Given the description of an element on the screen output the (x, y) to click on. 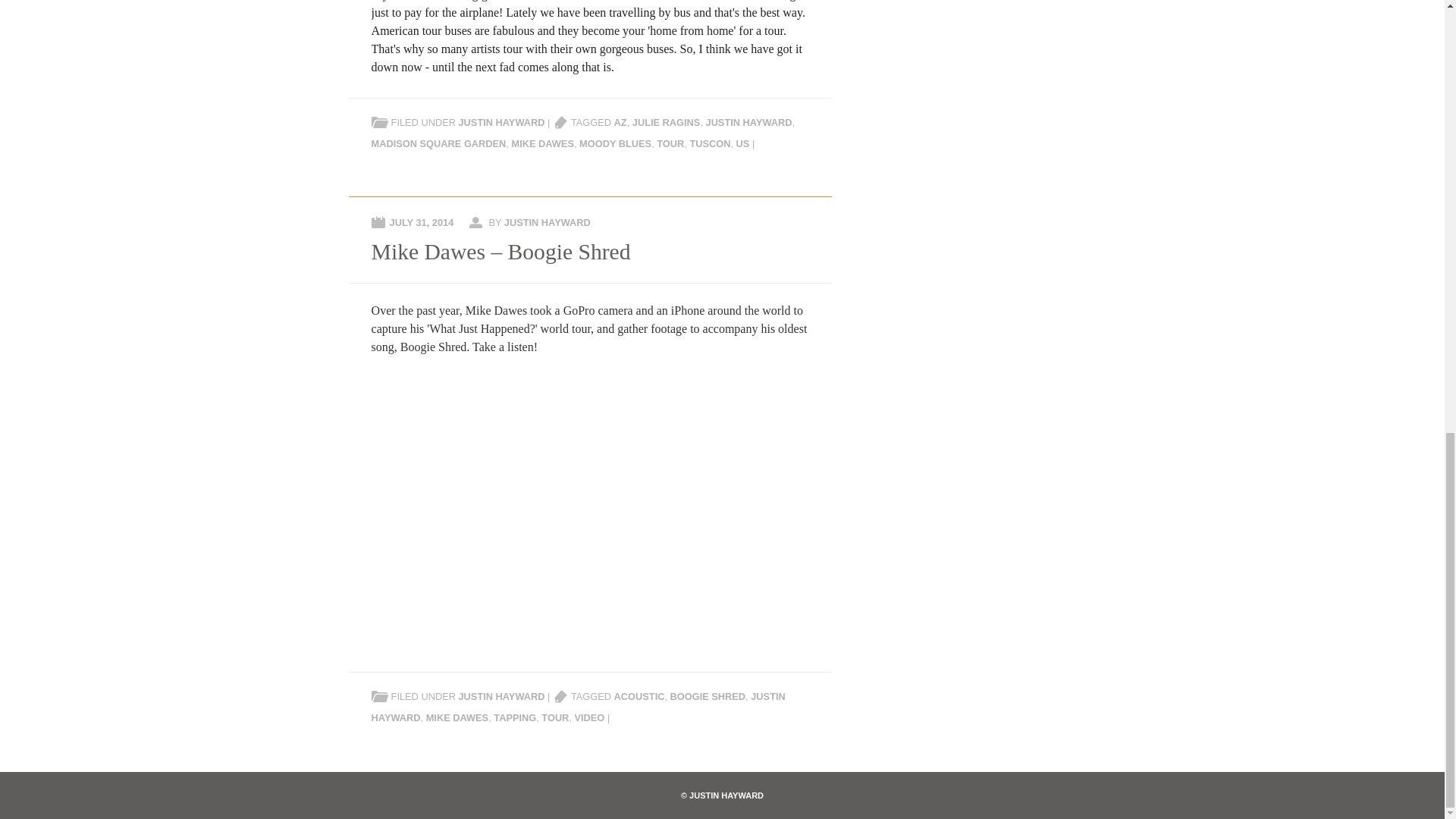
JUSTIN HAYWARD (547, 222)
MIKE DAWES (456, 717)
TOUR (670, 143)
12:54 pm (422, 222)
JUSTIN HAYWARD (501, 122)
TOUR (555, 717)
TAPPING (514, 717)
MADISON SQUARE GARDEN (438, 143)
TUSCON (709, 143)
JUSTIN HAYWARD (578, 707)
